Given the description of an element on the screen output the (x, y) to click on. 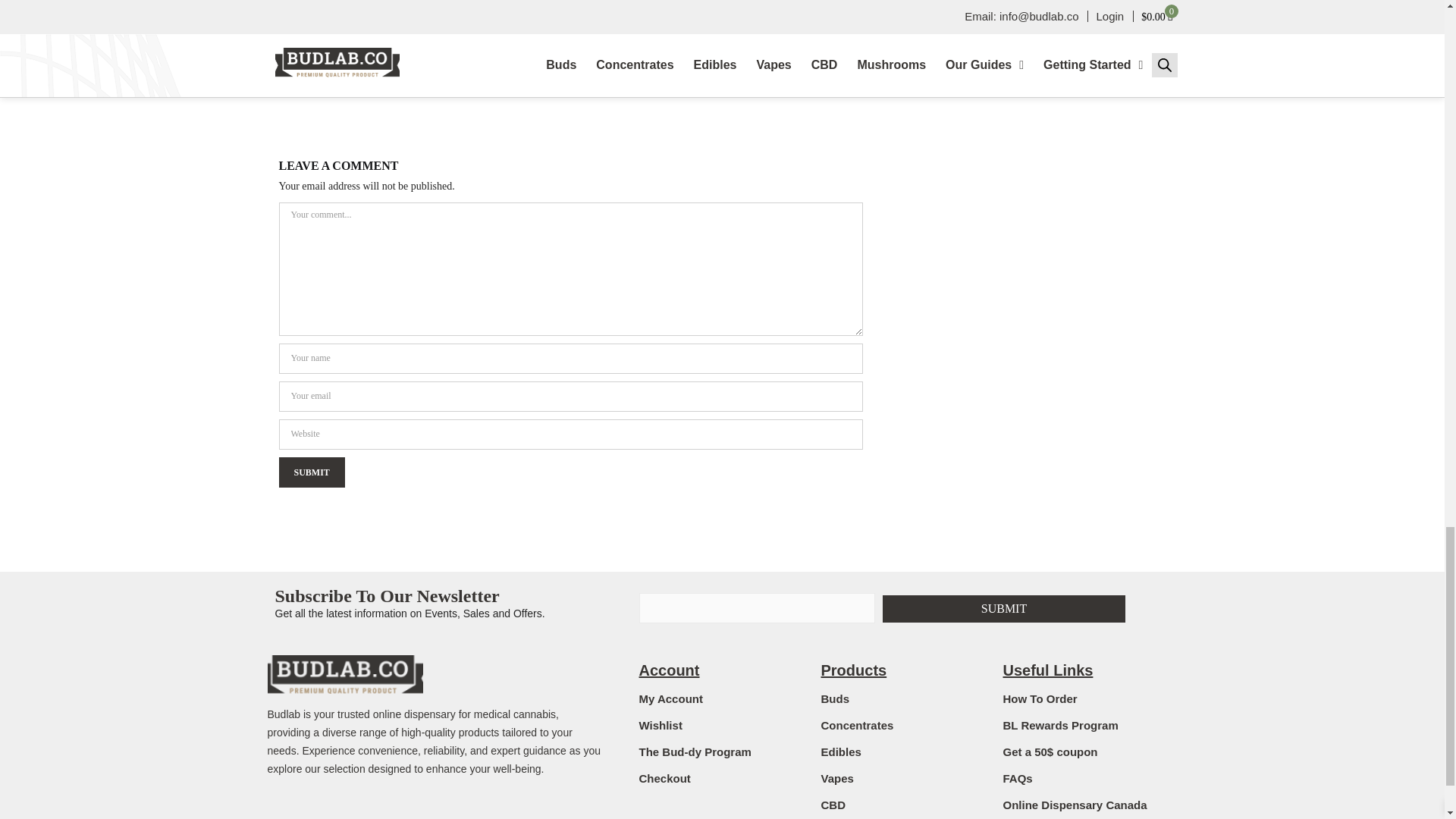
Submit (1003, 608)
Bud Lab Logo PNG (338, 672)
Submit (312, 471)
